Given the description of an element on the screen output the (x, y) to click on. 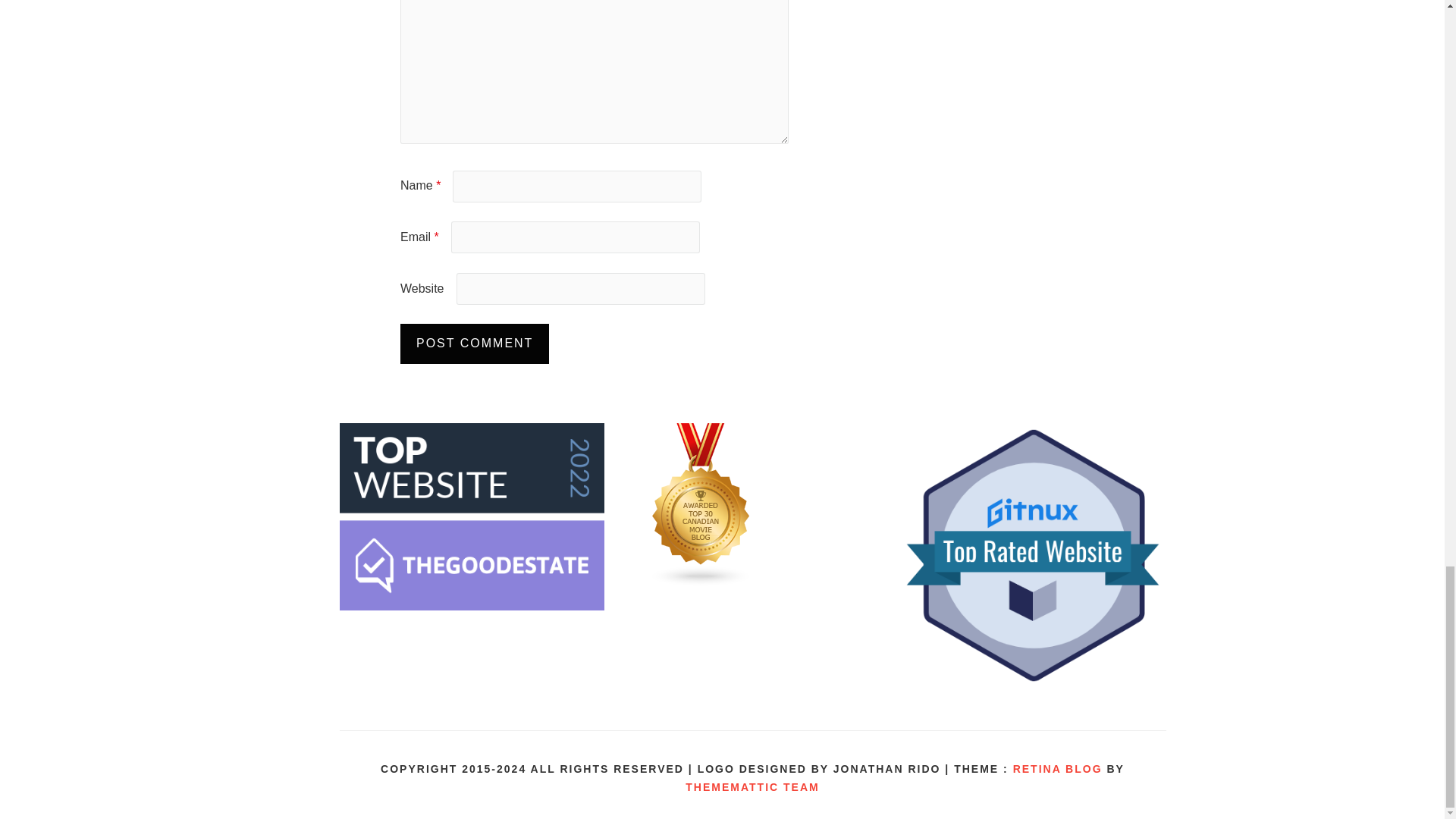
Post Comment (474, 343)
Post Comment (474, 343)
Canadian Movie Blogs (701, 582)
